Given the description of an element on the screen output the (x, y) to click on. 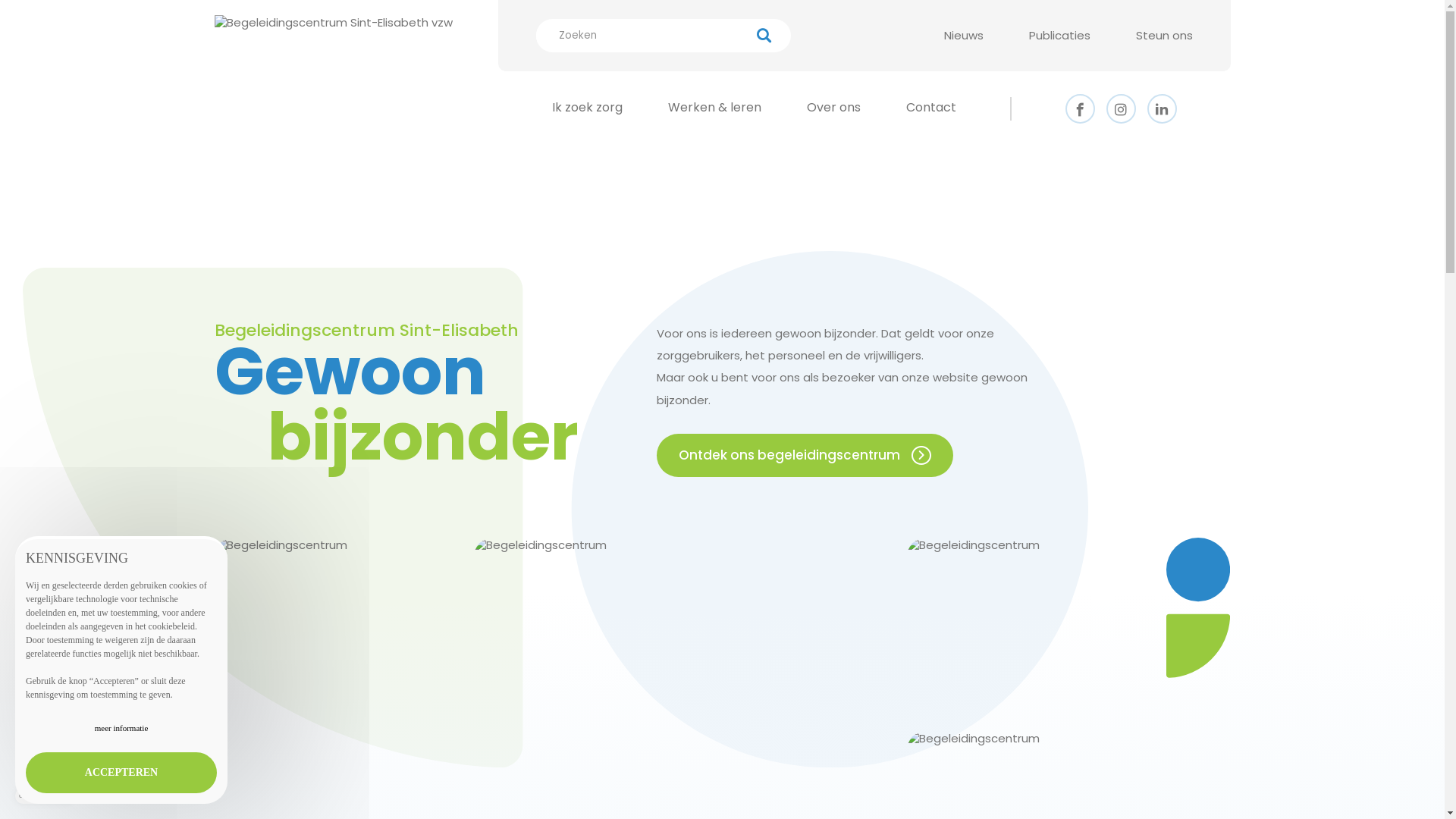
cookiebeleid Element type: text (171, 626)
Nieuws Element type: text (962, 35)
Publicaties Element type: text (1058, 35)
Ontdek ons begeleidingscentrum Element type: text (804, 455)
Contact Element type: text (930, 108)
Steun ons Element type: text (1163, 35)
cookies beheren Element type: text (44, 795)
ACCEPTEREN Element type: text (120, 772)
Ik zoek zorg Element type: text (587, 108)
Begeleidingscentrum Sint-Elisabeth vzw Element type: hover (332, 89)
Over ons Element type: text (833, 108)
Werken & leren Element type: text (713, 108)
meer informatie Element type: text (120, 728)
